Given the description of an element on the screen output the (x, y) to click on. 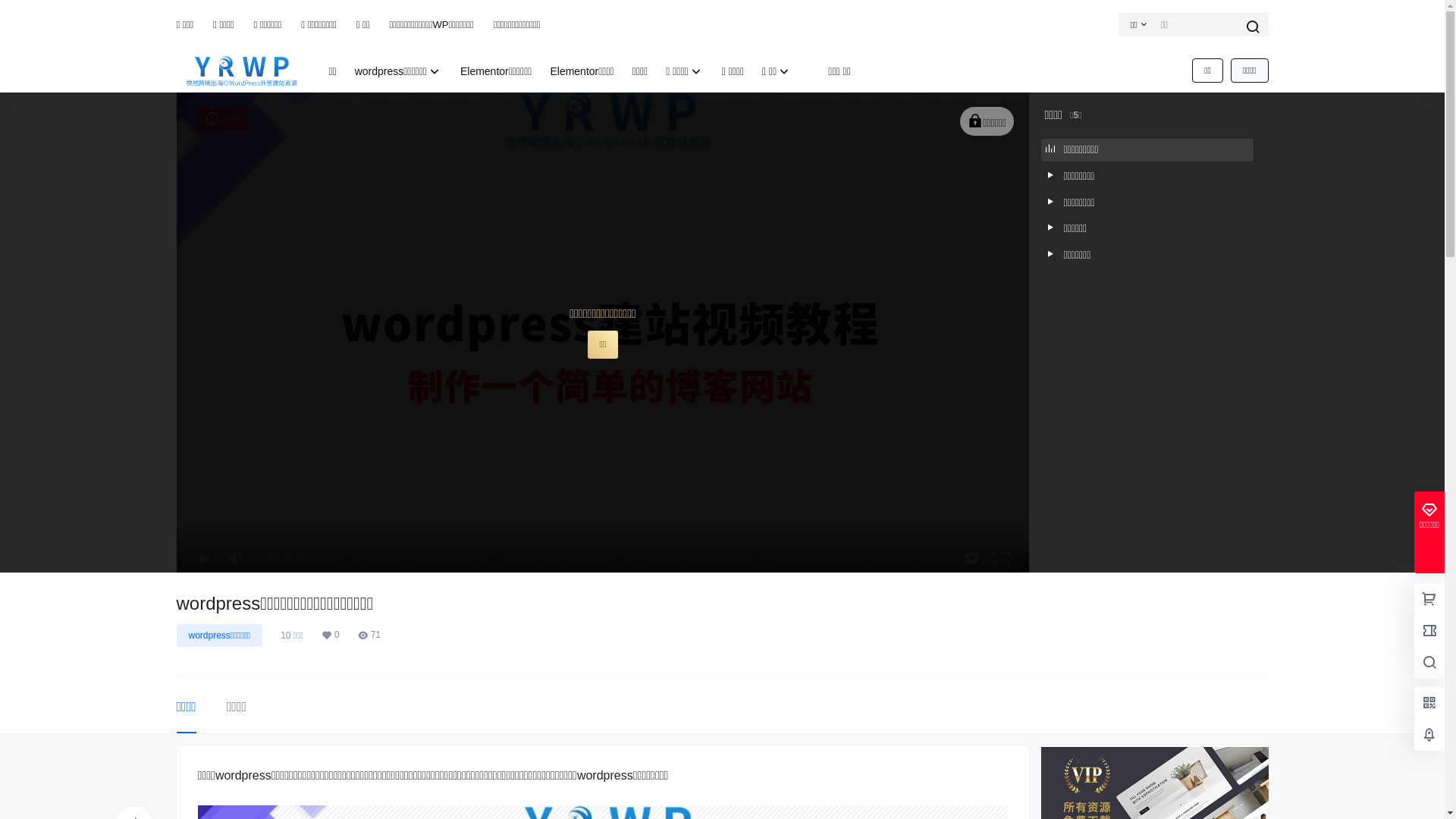
ok Element type: text (10, 10)
